Given the description of an element on the screen output the (x, y) to click on. 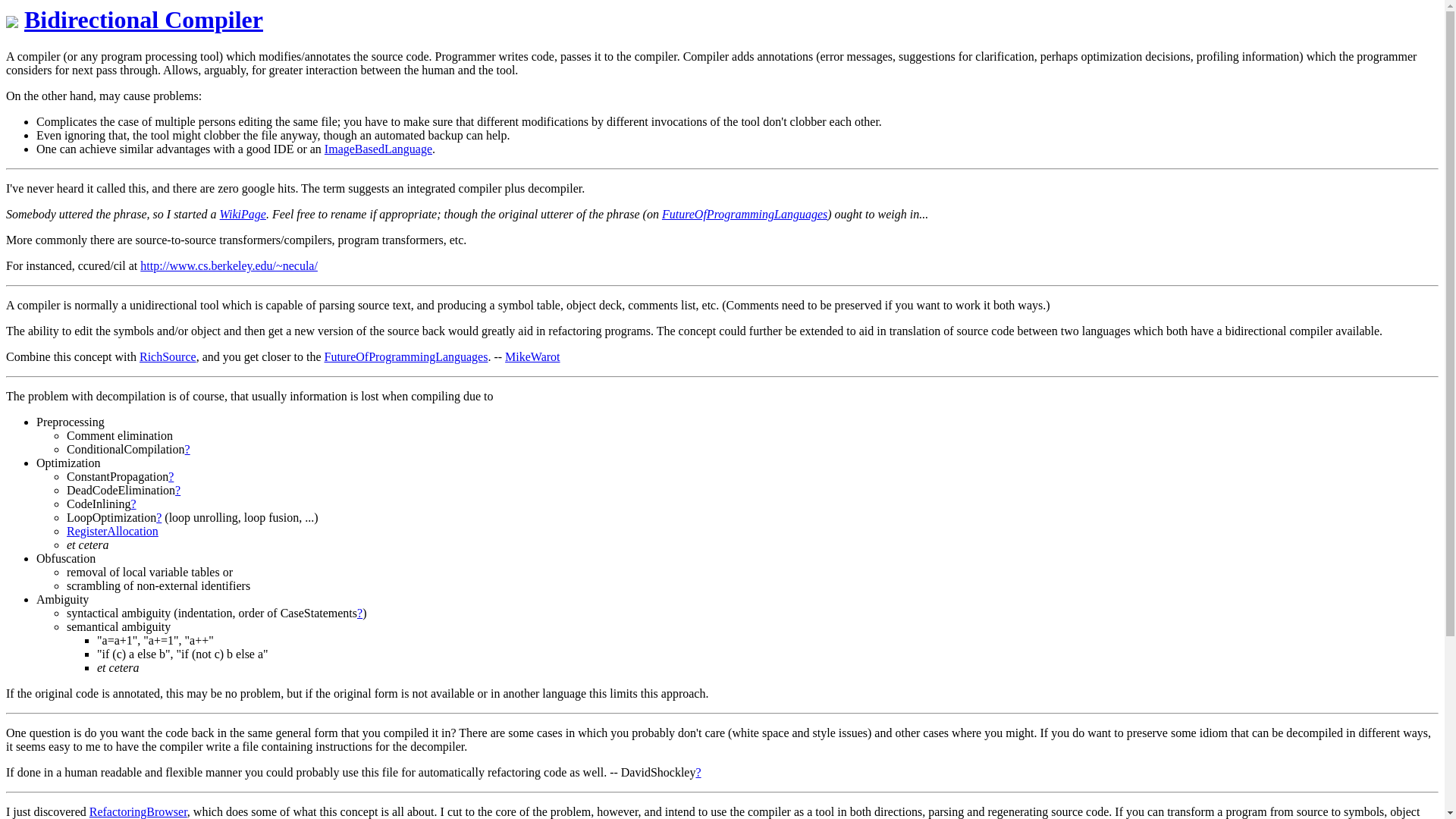
ImageBasedLanguage (378, 148)
RegisterAllocation (112, 530)
FutureOfProgrammingLanguages (744, 214)
FutureOfProgrammingLanguages (405, 356)
RichSource (167, 356)
RefactoringBrowser (137, 811)
WikiPage (242, 214)
MikeWarot (532, 356)
Bidirectional Compiler (143, 19)
